Given the description of an element on the screen output the (x, y) to click on. 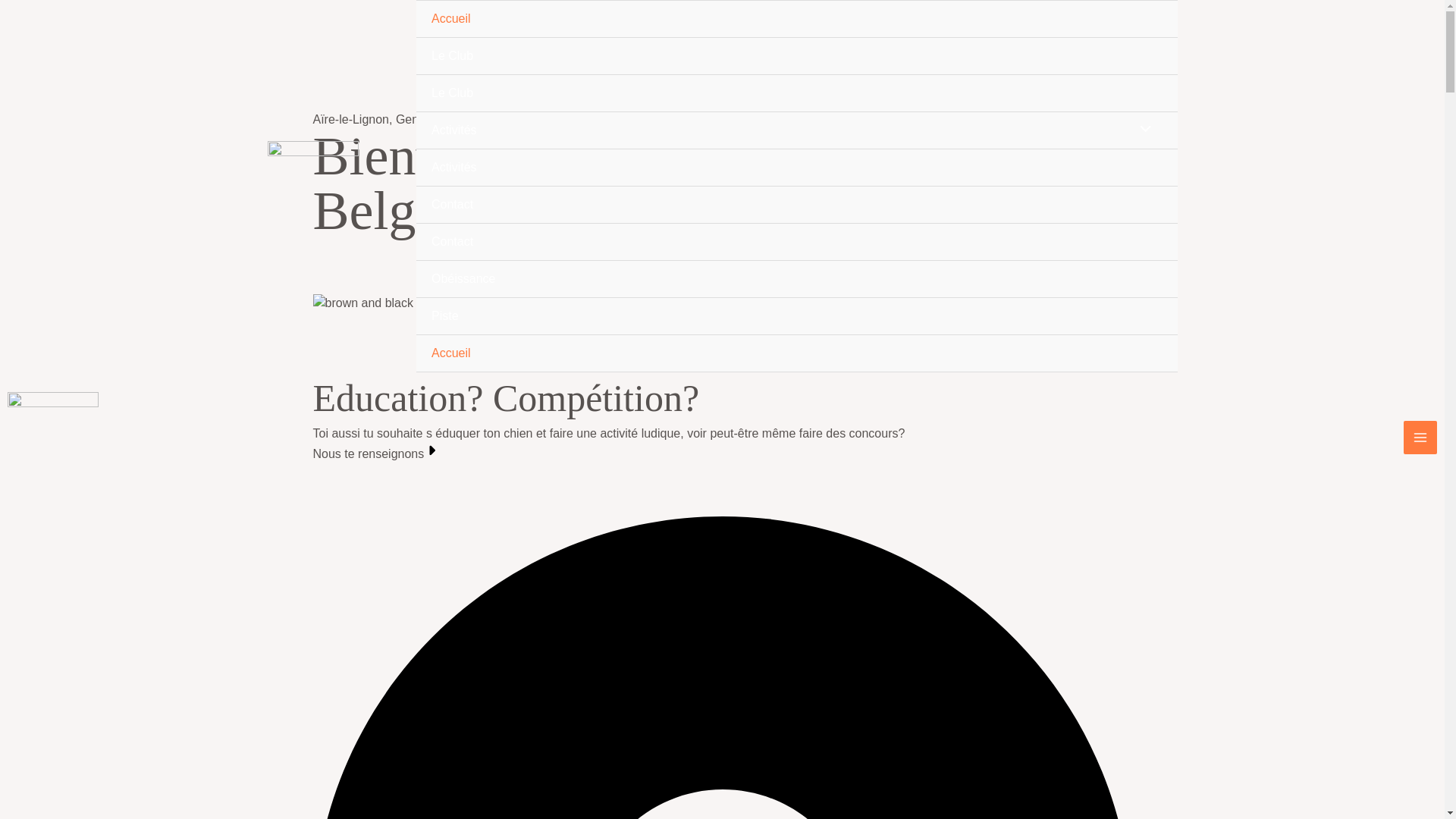
Le Club Element type: text (796, 93)
Piste Element type: text (796, 316)
Permutateur de Menu Element type: text (1140, 130)
Contact Element type: text (796, 241)
Main Menu Element type: text (1420, 437)
Accueil Element type: text (796, 18)
Contact Element type: text (796, 204)
Le Club Element type: text (796, 56)
Accueil Element type: text (796, 353)
